Given the description of an element on the screen output the (x, y) to click on. 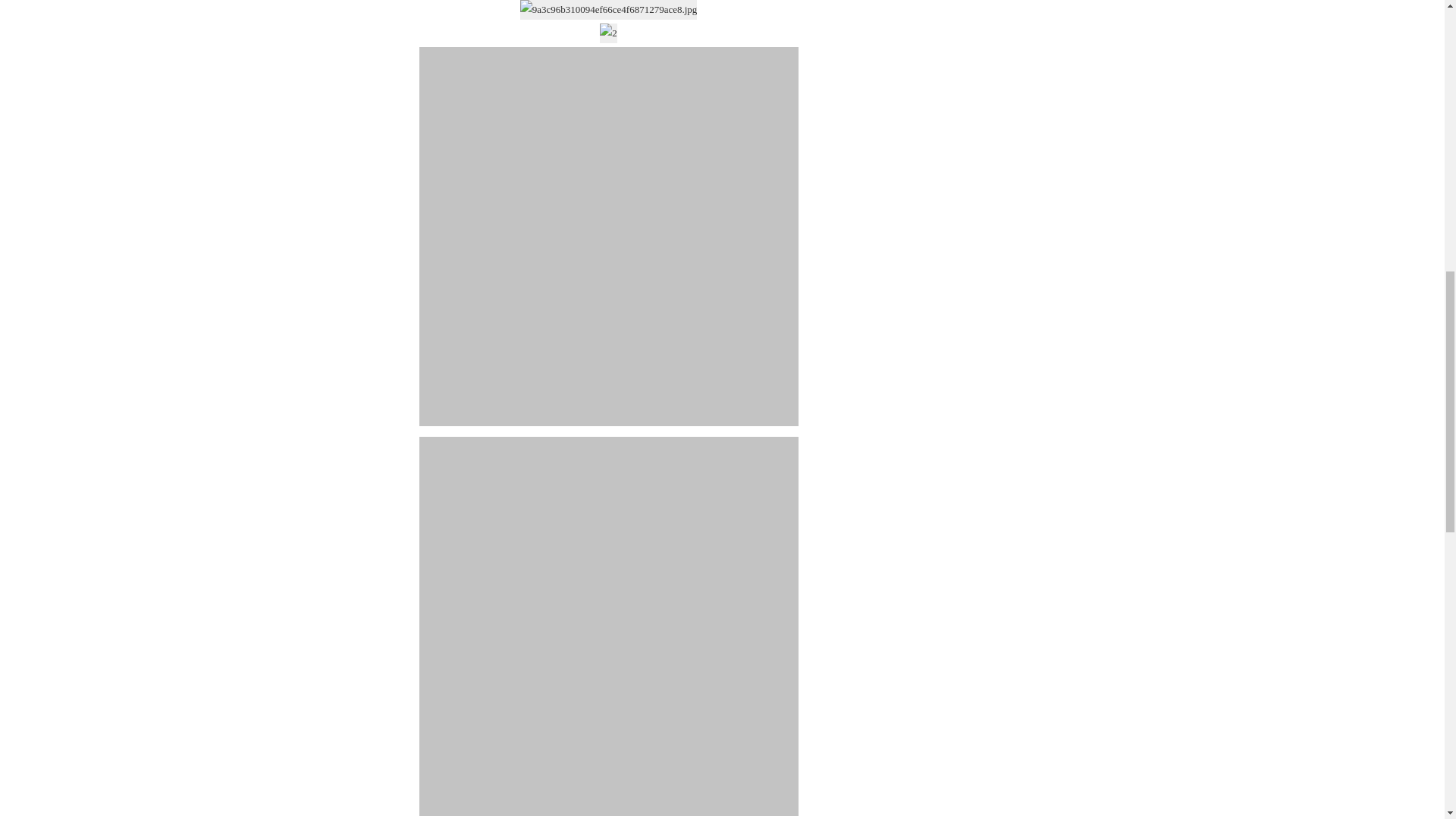
9a3c96b310094ef66ce4f6871279ace8.jpg (608, 9)
2 (608, 33)
